Given the description of an element on the screen output the (x, y) to click on. 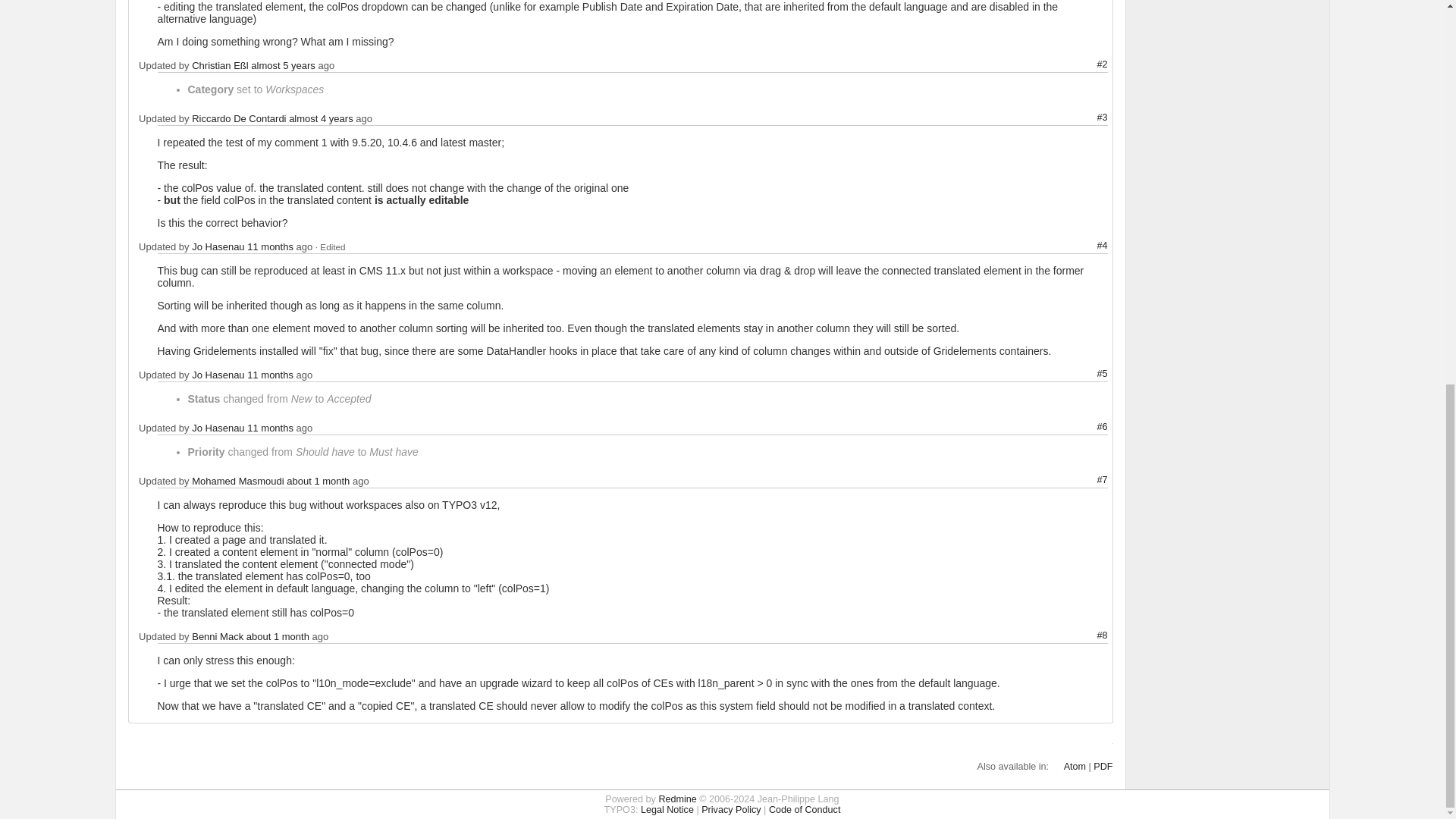
Actions (1084, 64)
2020-09-06 16:00 (320, 118)
2023-09-24 17:30 (270, 246)
Actions (1084, 118)
Actions (1084, 246)
2024-07-20 17:21 by Jo Hasenau (330, 246)
2019-10-01 20:08 (282, 65)
Actions (1084, 374)
